Given the description of an element on the screen output the (x, y) to click on. 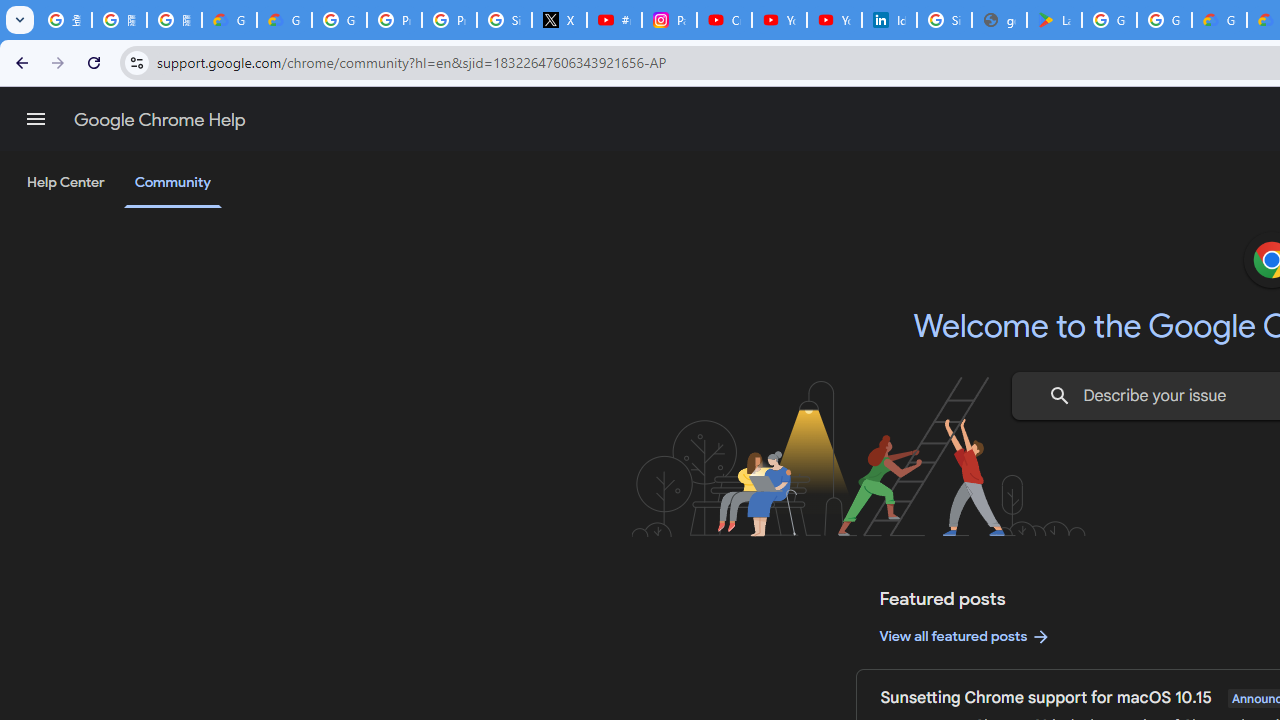
Privacy Help Center - Policies Help (449, 20)
X (559, 20)
Google Cloud Privacy Notice (284, 20)
YouTube Culture & Trends - YouTube Top 10, 2021 (833, 20)
